Given the description of an element on the screen output the (x, y) to click on. 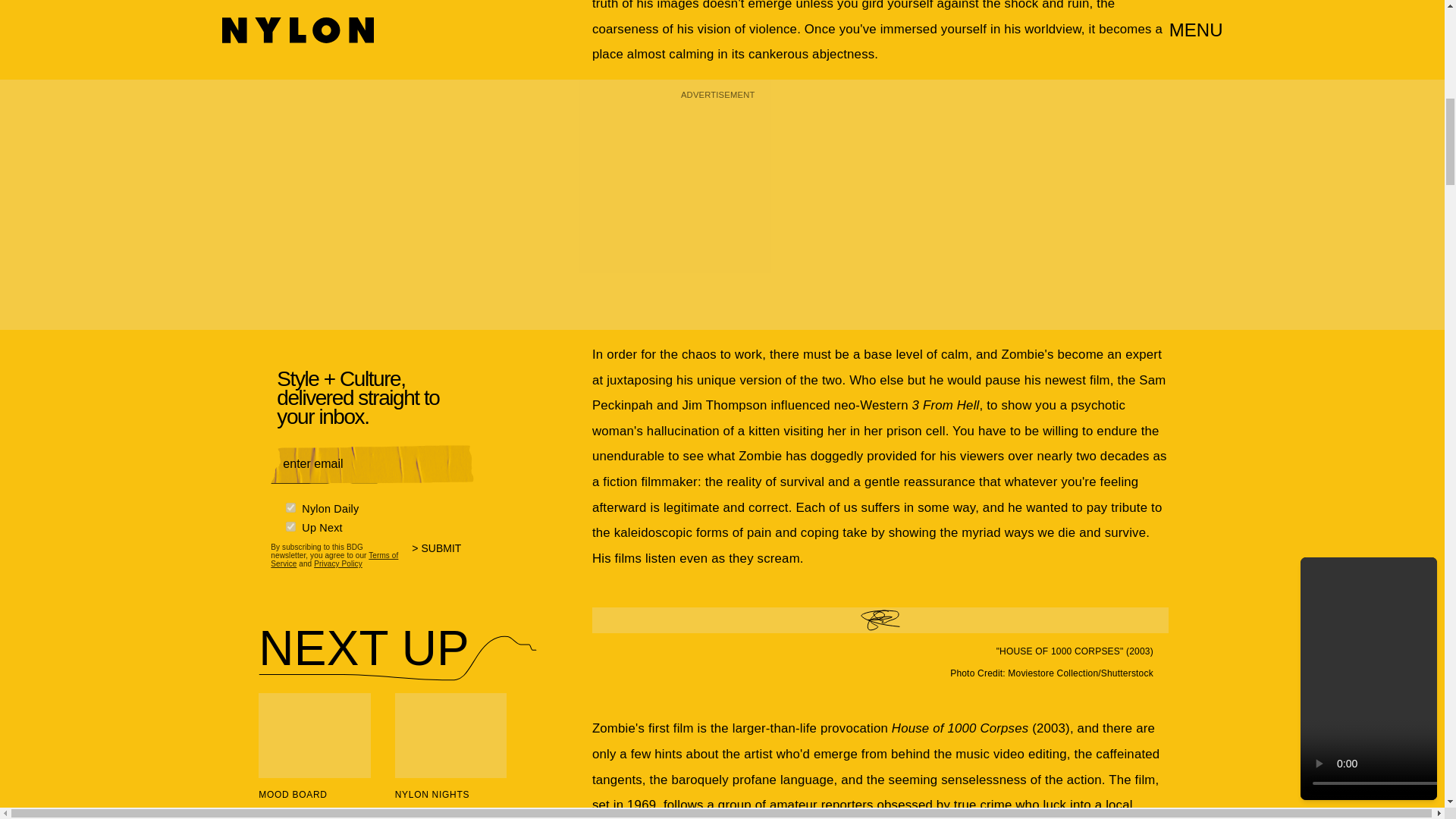
Terms of Service (333, 553)
SUBMIT (443, 550)
Privacy Policy (338, 559)
